Given the description of an element on the screen output the (x, y) to click on. 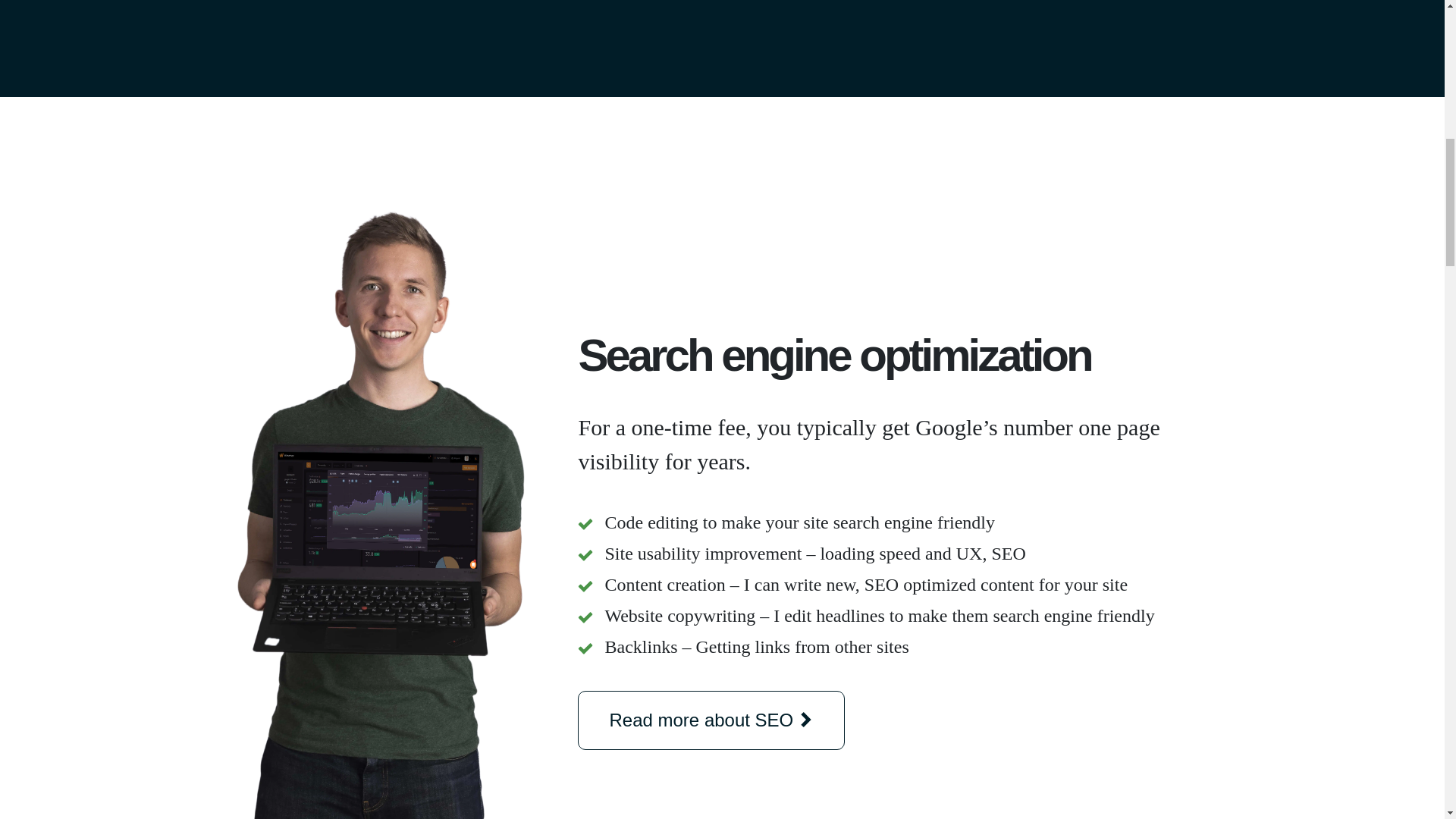
Read more about SEO (711, 720)
